Given the description of an element on the screen output the (x, y) to click on. 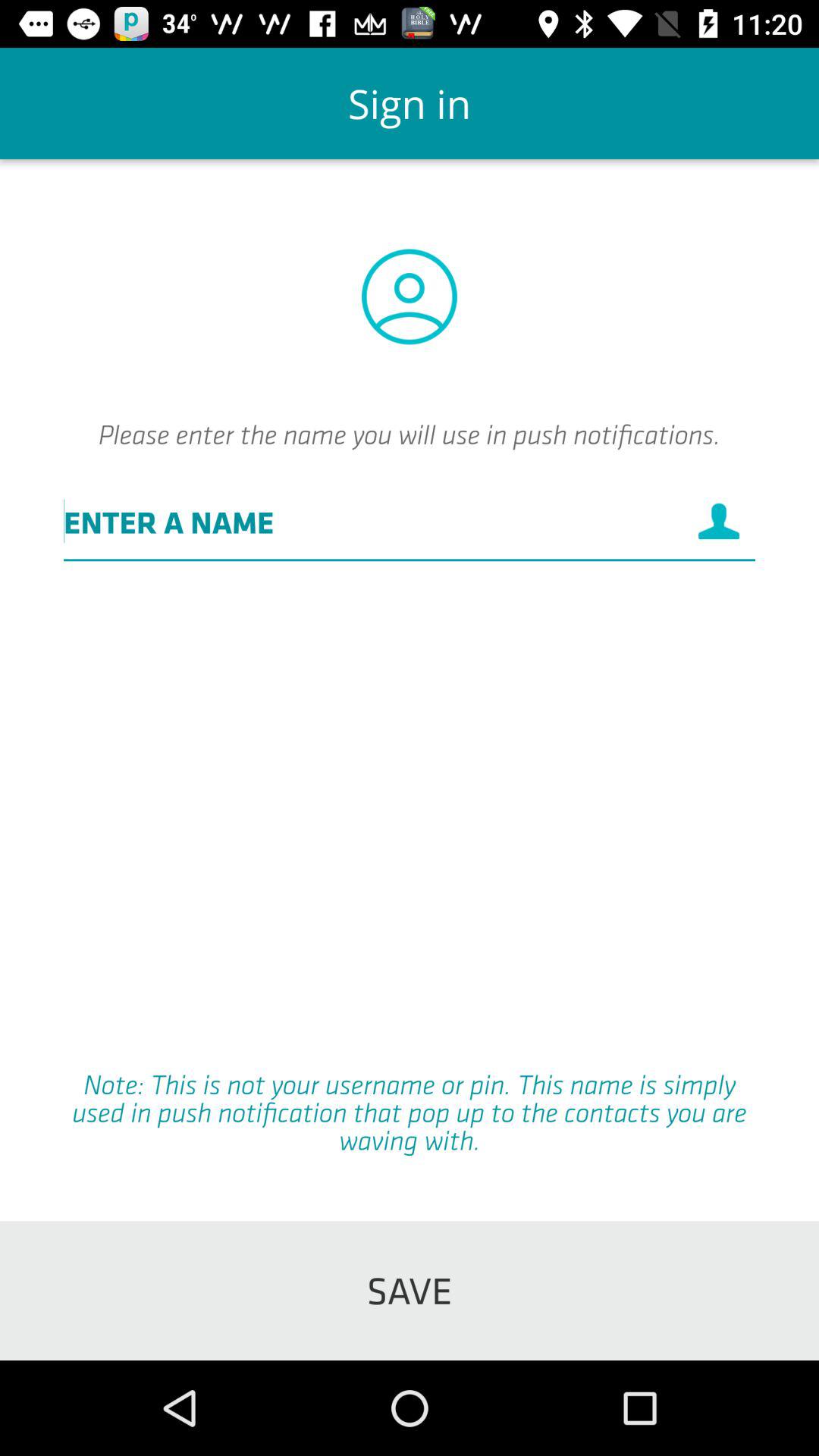
flip until the save (409, 1290)
